Given the description of an element on the screen output the (x, y) to click on. 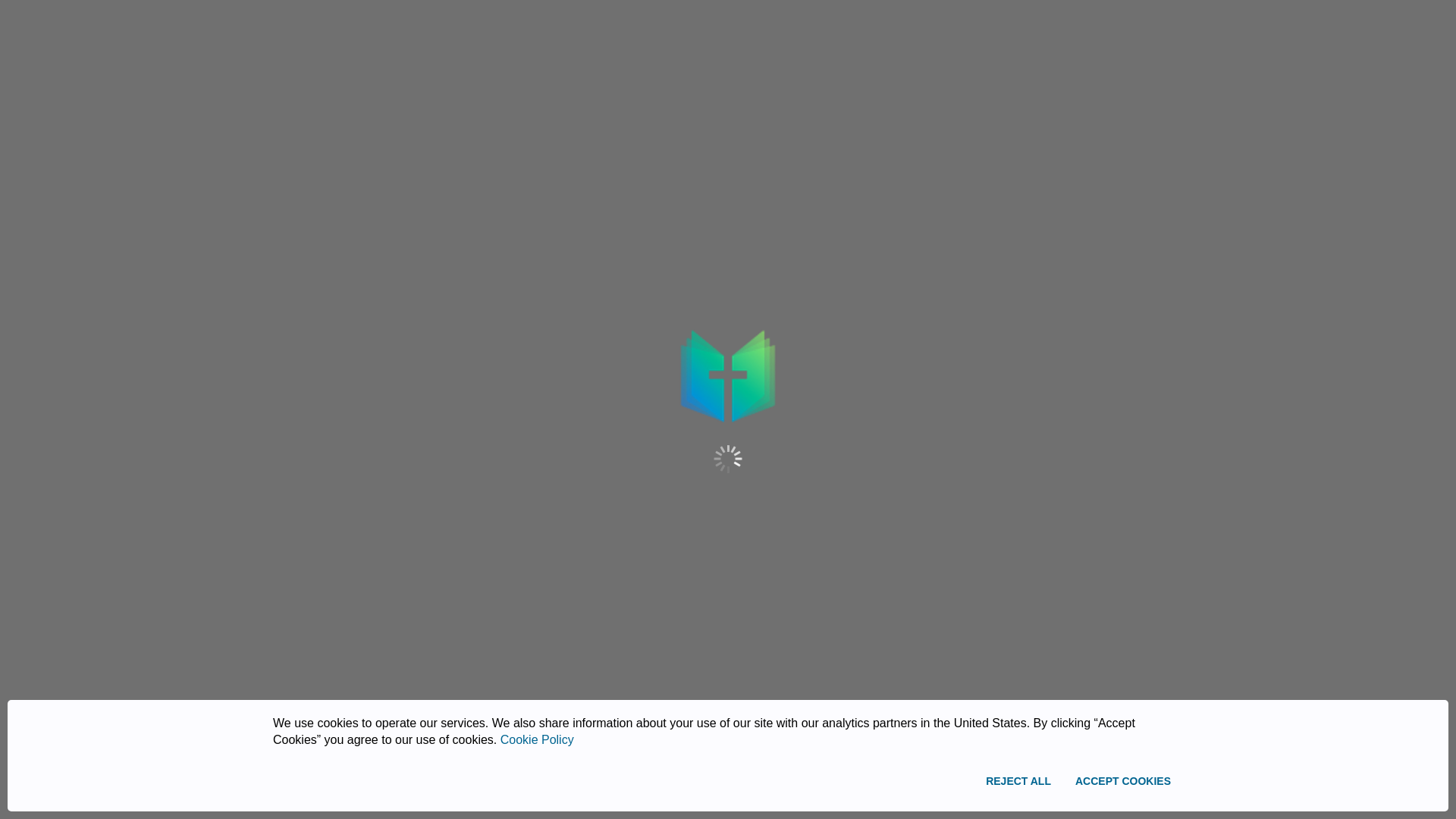
Cookie Policy (536, 739)
ACCEPT COOKIES (1122, 781)
REJECT ALL (1018, 781)
